Given the description of an element on the screen output the (x, y) to click on. 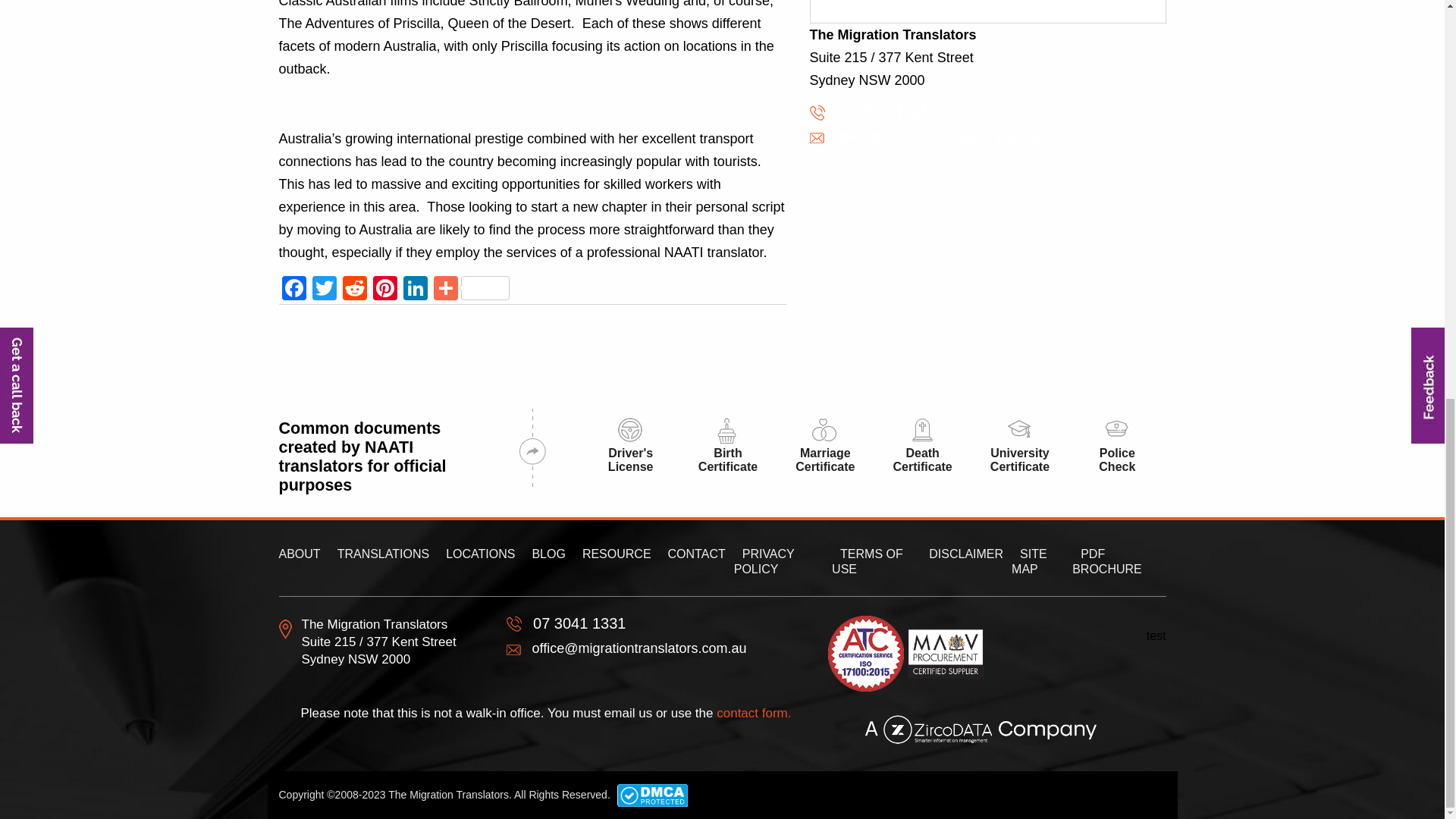
Twitter (323, 289)
Live Chat Button (1414, 18)
Facebook (293, 289)
Reddit (354, 289)
Pinterest (384, 289)
LinkedIn (415, 289)
